Given the description of an element on the screen output the (x, y) to click on. 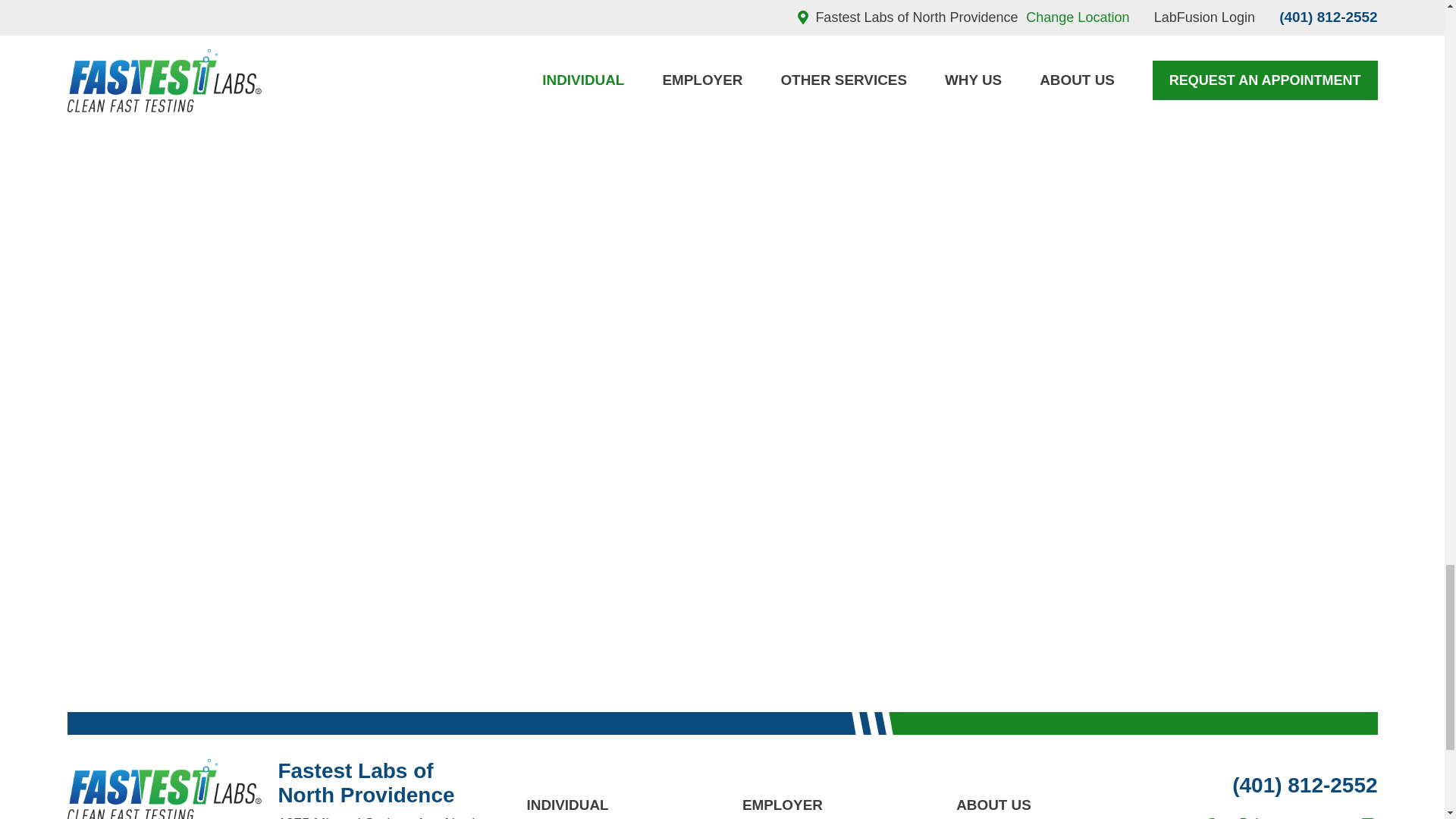
Home (163, 789)
